Given the description of an element on the screen output the (x, y) to click on. 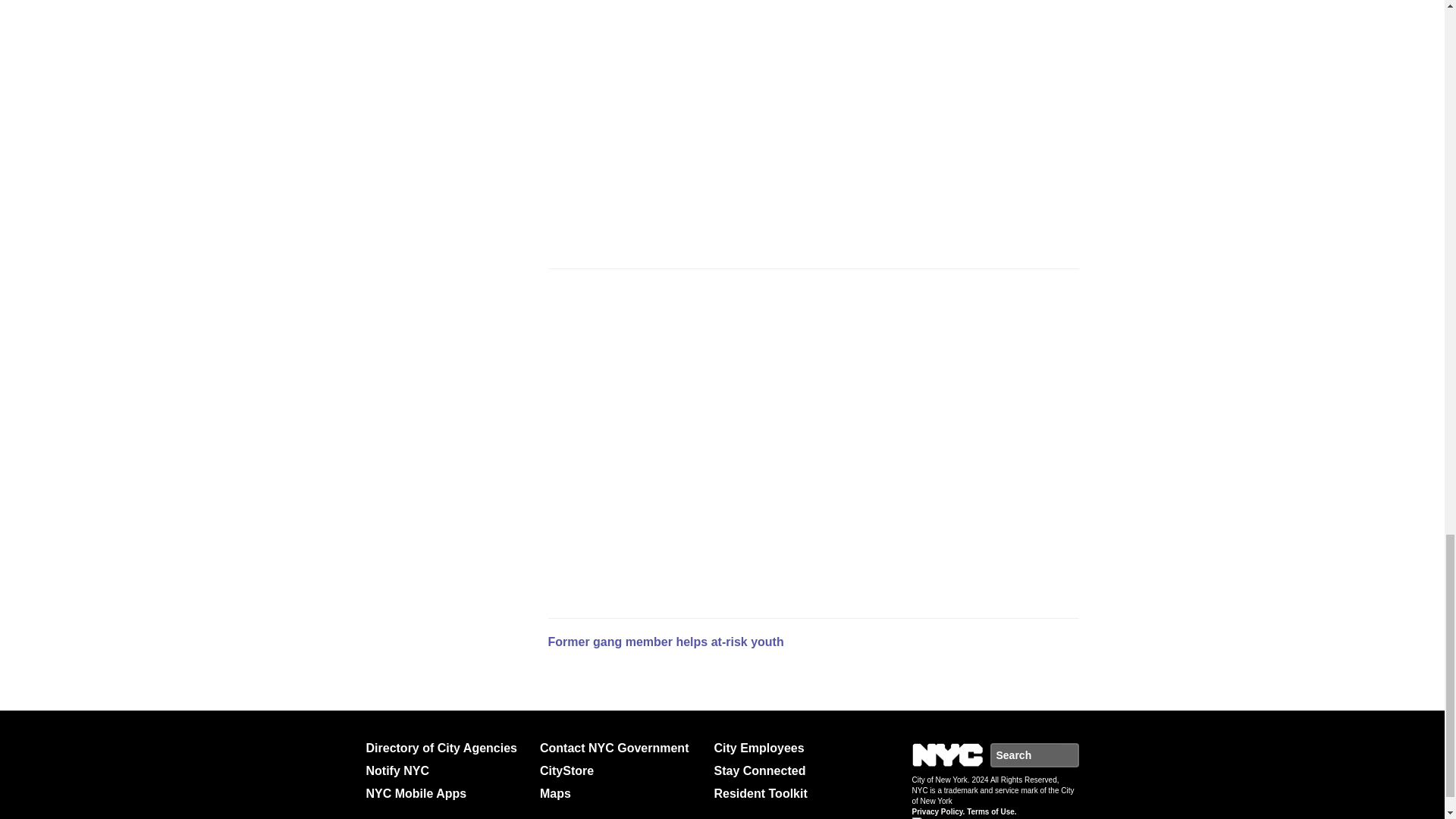
Contact NYC Government (620, 748)
Directory of City Agencies (446, 748)
Terms of Use (991, 811)
Privacy Ploicy  (937, 811)
CityStore (620, 771)
Notify NYC (446, 771)
City Employees (795, 748)
Former gang member helps at-risk youth (665, 641)
